Given the description of an element on the screen output the (x, y) to click on. 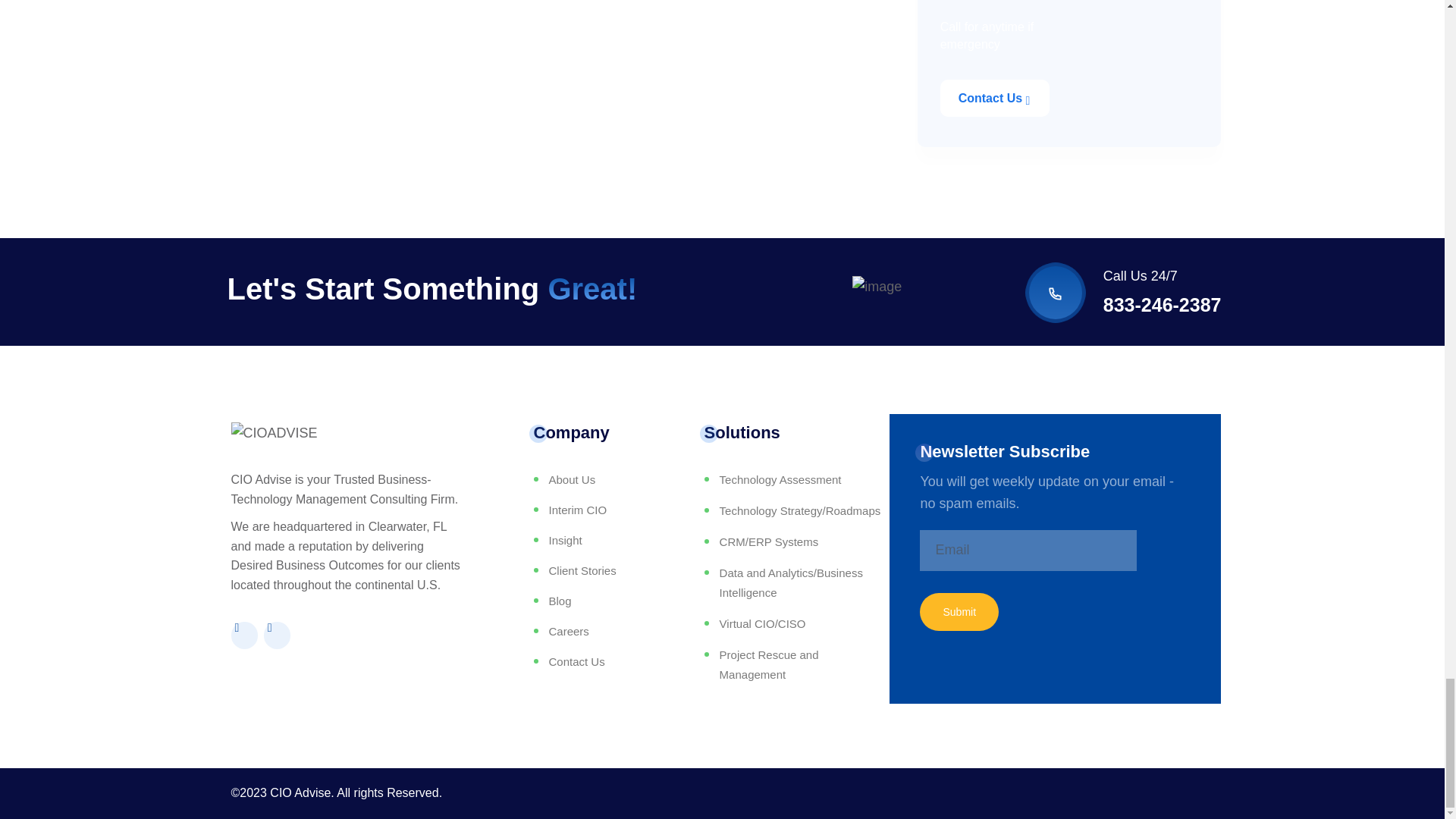
Submit (959, 611)
